Given the description of an element on the screen output the (x, y) to click on. 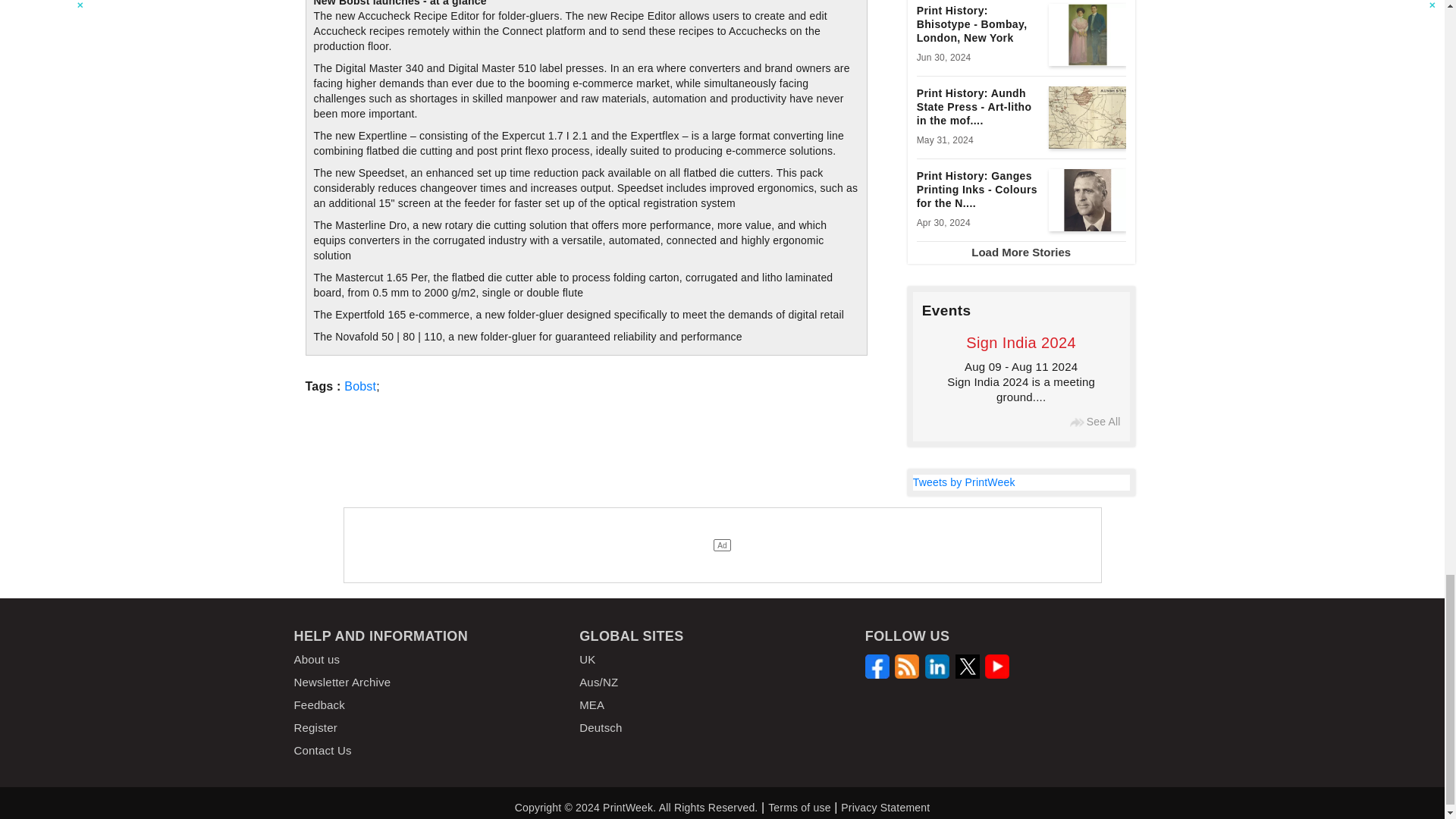
Bobst (359, 385)
